Given the description of an element on the screen output the (x, y) to click on. 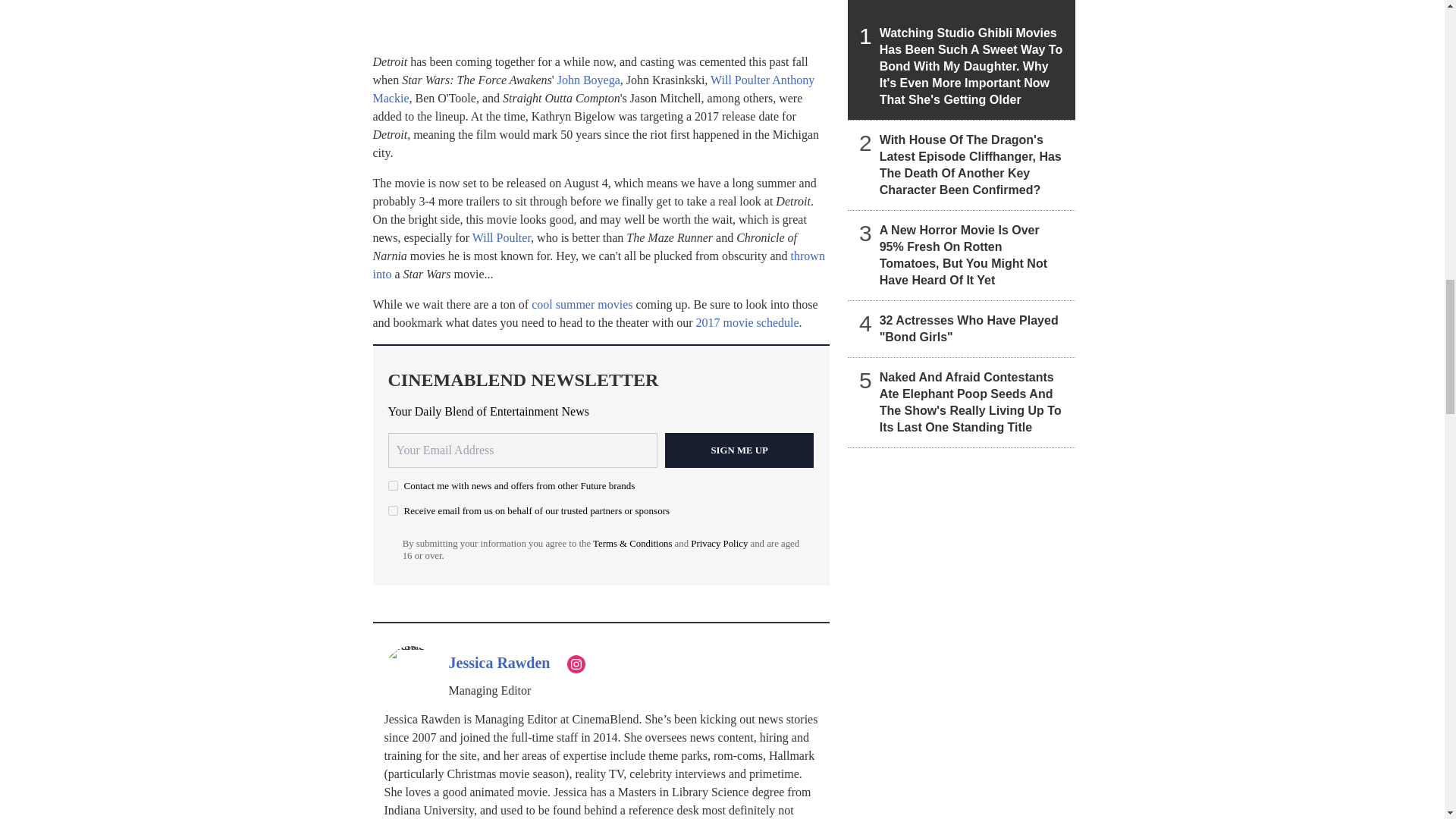
on (392, 485)
Sign me up (739, 450)
on (392, 510)
